Given the description of an element on the screen output the (x, y) to click on. 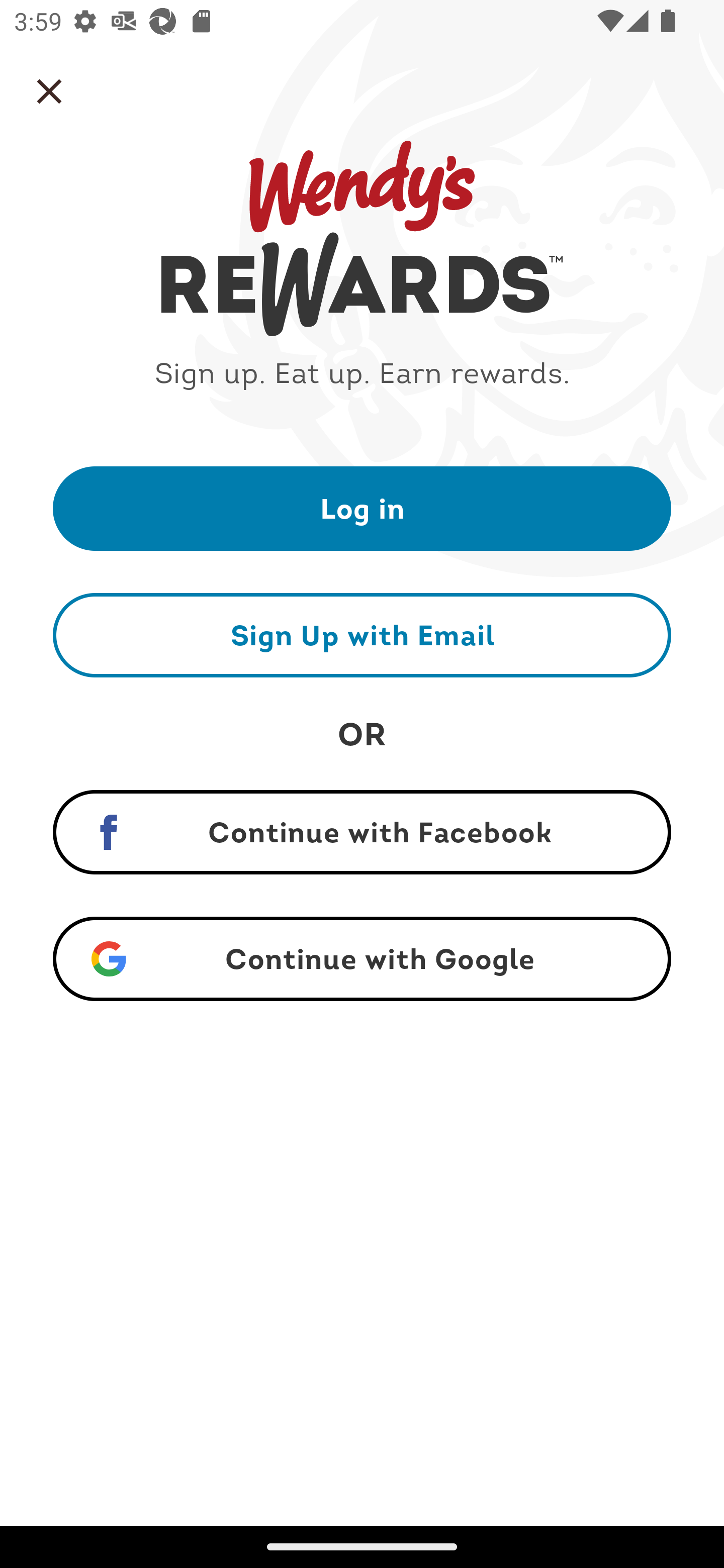
close (49, 91)
Log in (361, 507)
Sign Up with Email (361, 634)
Continue with Facebook (361, 832)
Continue with Google (361, 958)
